Given the description of an element on the screen output the (x, y) to click on. 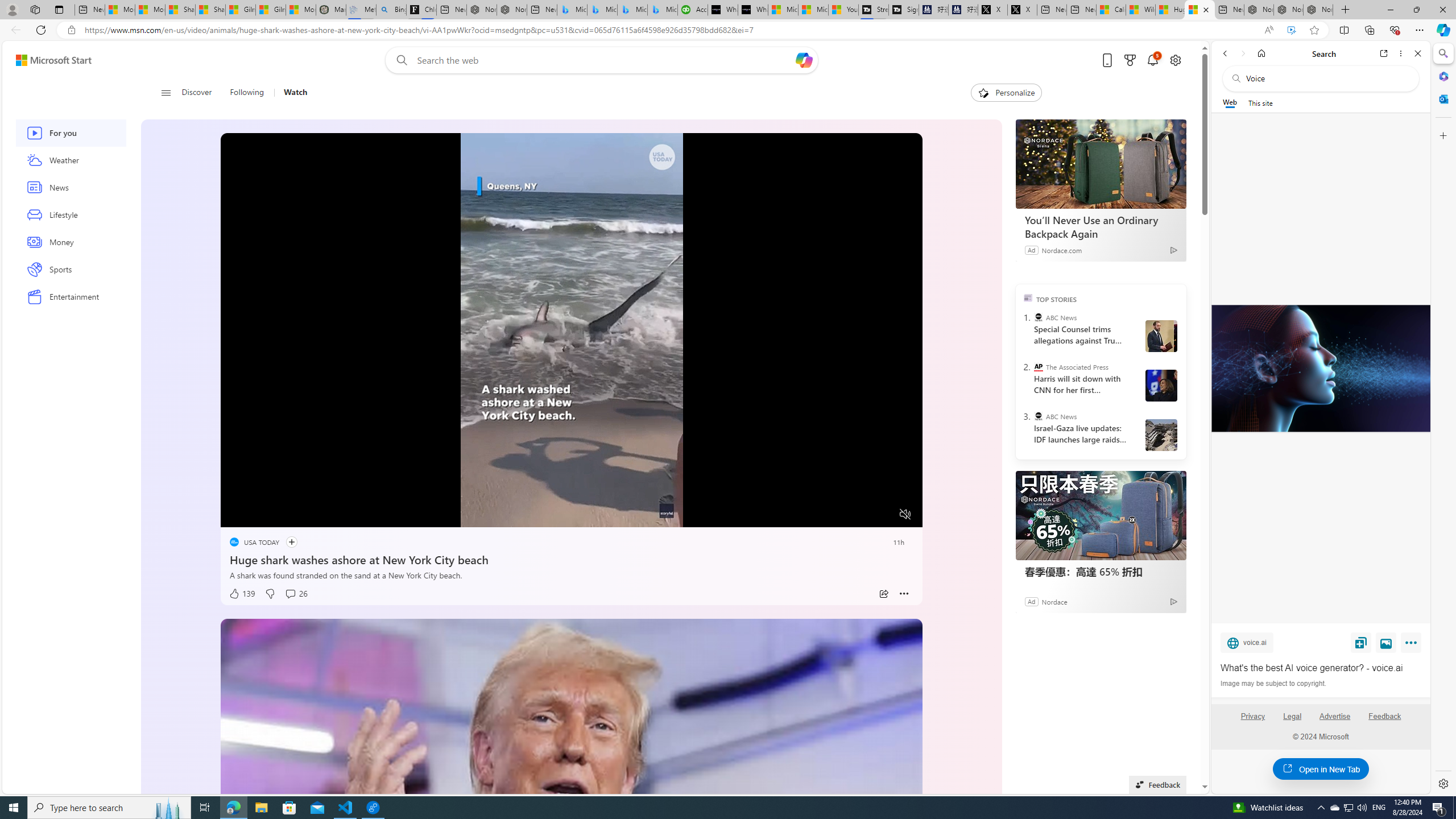
Fullscreen (883, 514)
voice.ai (1247, 642)
Enter your search term (603, 59)
Huge shark washes ashore at New York City beach | Watch (1200, 9)
Image may be subject to copyright. (1273, 682)
Shanghai, China weather forecast | Microsoft Weather (210, 9)
Huge shark washes ashore at New York City beach (571, 558)
Save (1361, 642)
139 Like (242, 593)
Nordace Siena Pro 15 Backpack (1287, 9)
